Given the description of an element on the screen output the (x, y) to click on. 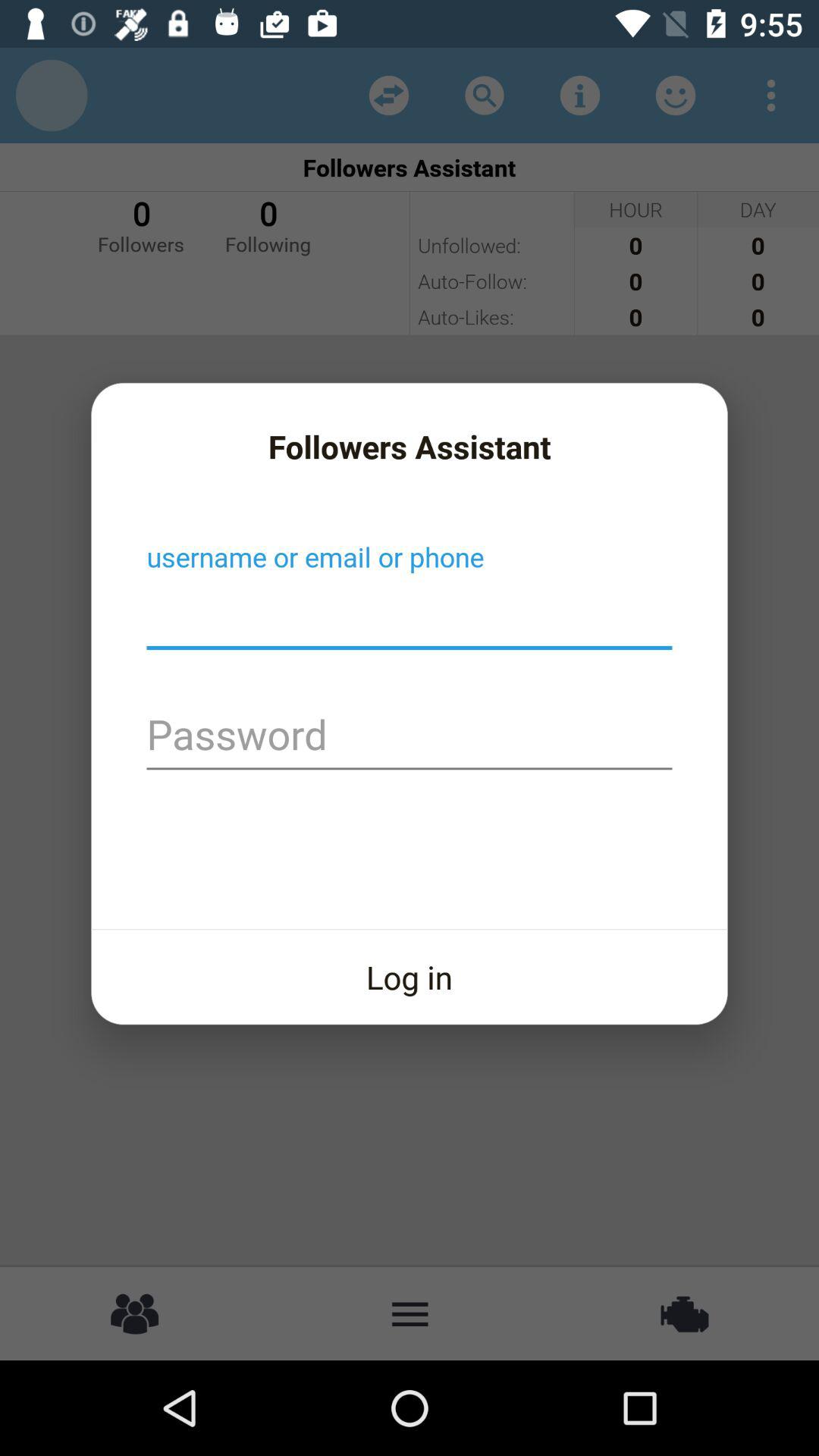
enter username (409, 615)
